Given the description of an element on the screen output the (x, y) to click on. 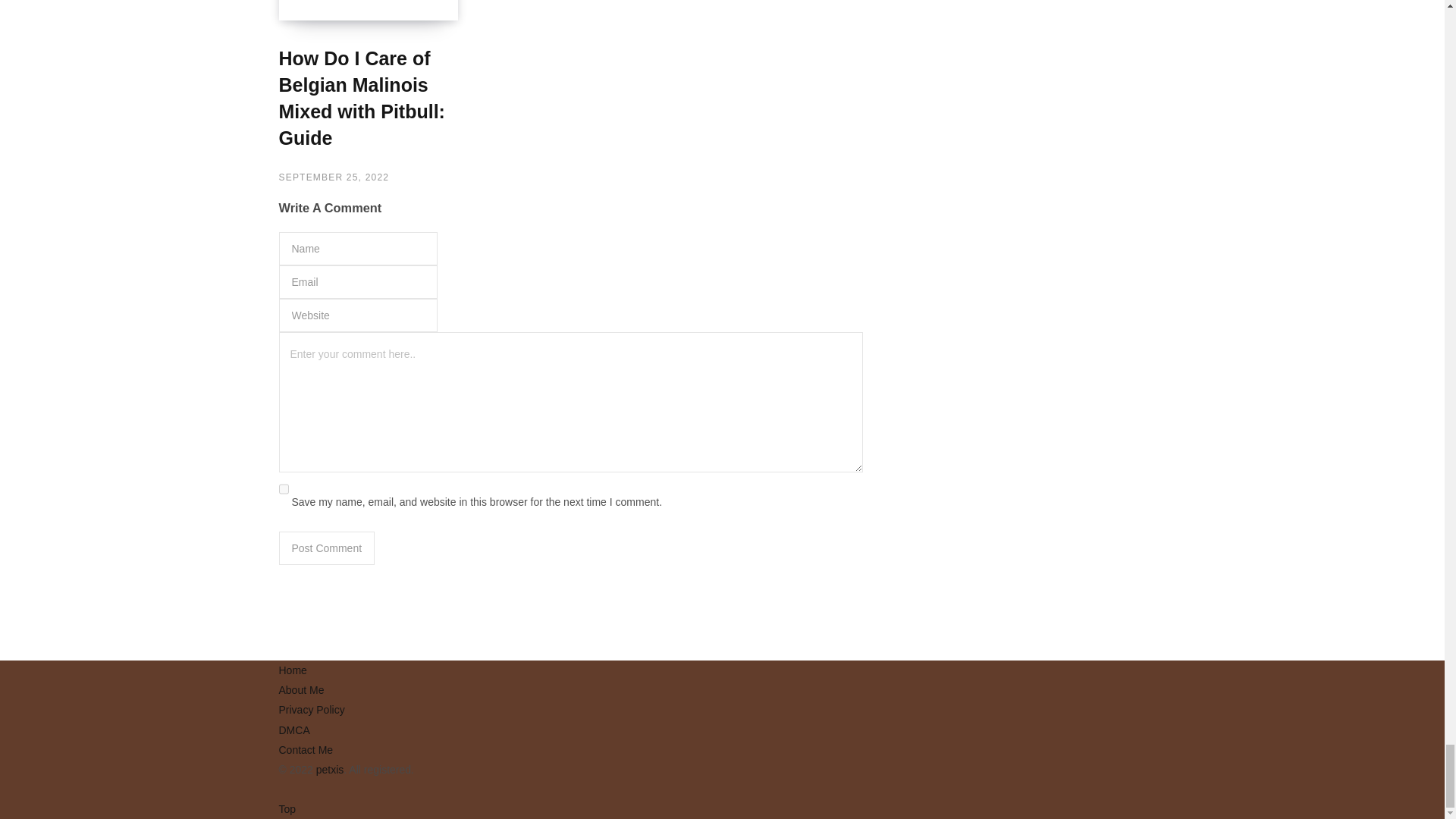
How Do I Care of Belgian Malinois Mixed with Pitbull: Guide (368, 16)
Post Comment (327, 548)
How Do I Care of Belgian Malinois Mixed with Pitbull: Guide (362, 97)
How Do I Care of Belgian Malinois Mixed with Pitbull: Guide (368, 10)
Post Comment (327, 548)
yes (283, 489)
